Given the description of an element on the screen output the (x, y) to click on. 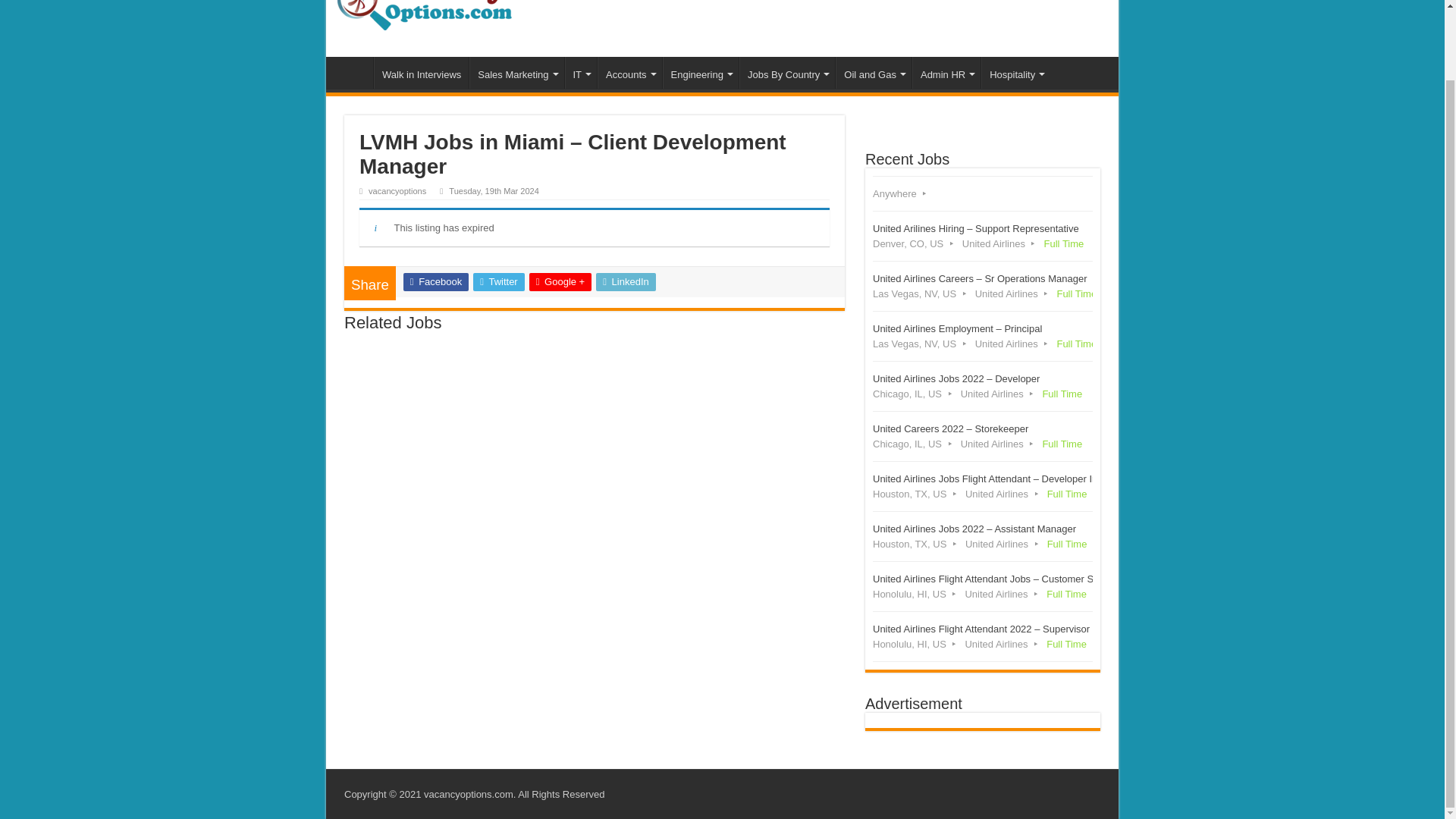
Content Protection by DMCA.com (944, 139)
Home (352, 72)
Walk in Interviews (421, 72)
IT (580, 72)
Accounts (628, 72)
Latest Job Vacancies in the USA, UK and Worldwide (424, 9)
Sales Marketing (515, 72)
